Given the description of an element on the screen output the (x, y) to click on. 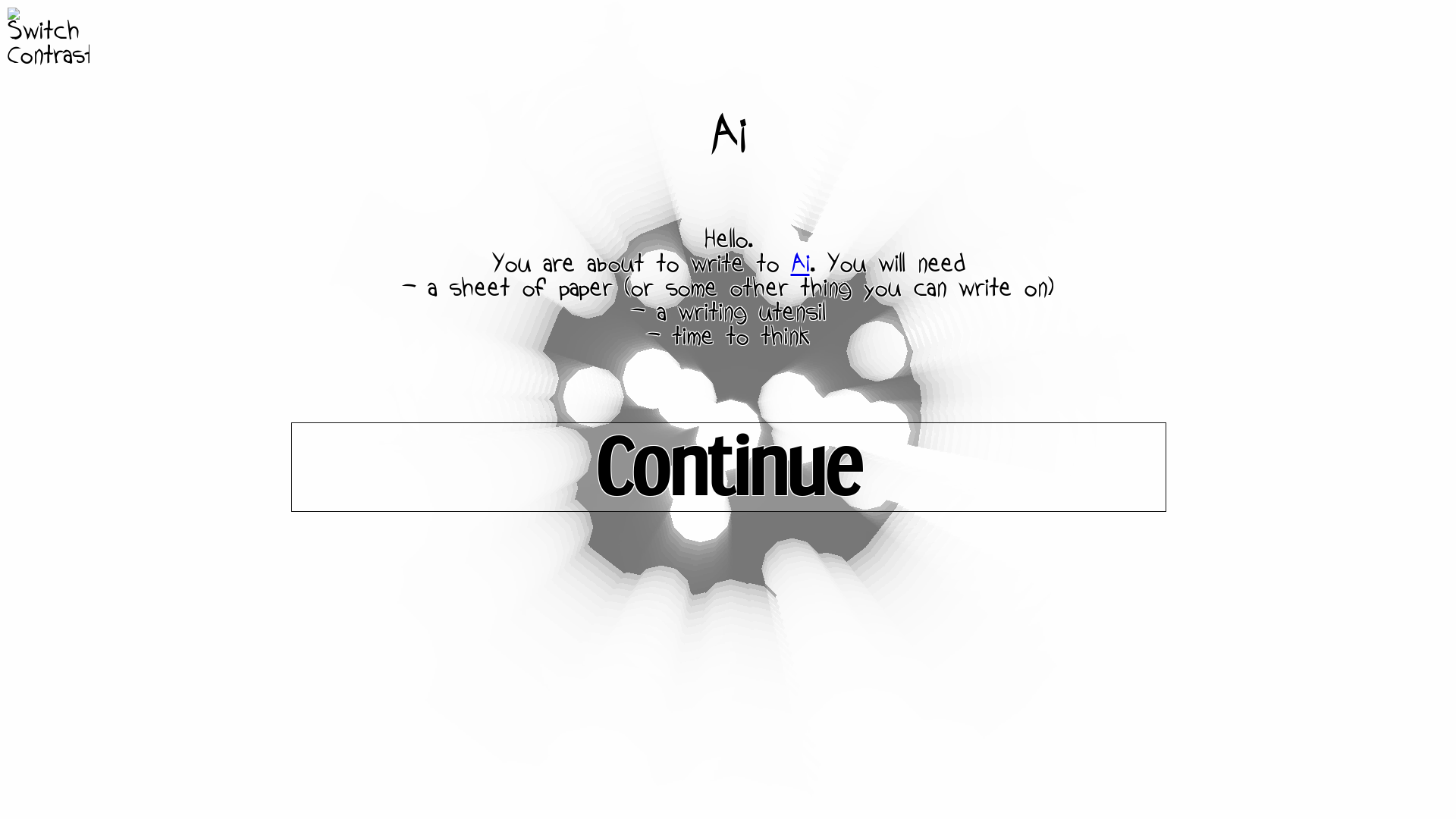
Ai Element type: text (799, 264)
